Given the description of an element on the screen output the (x, y) to click on. 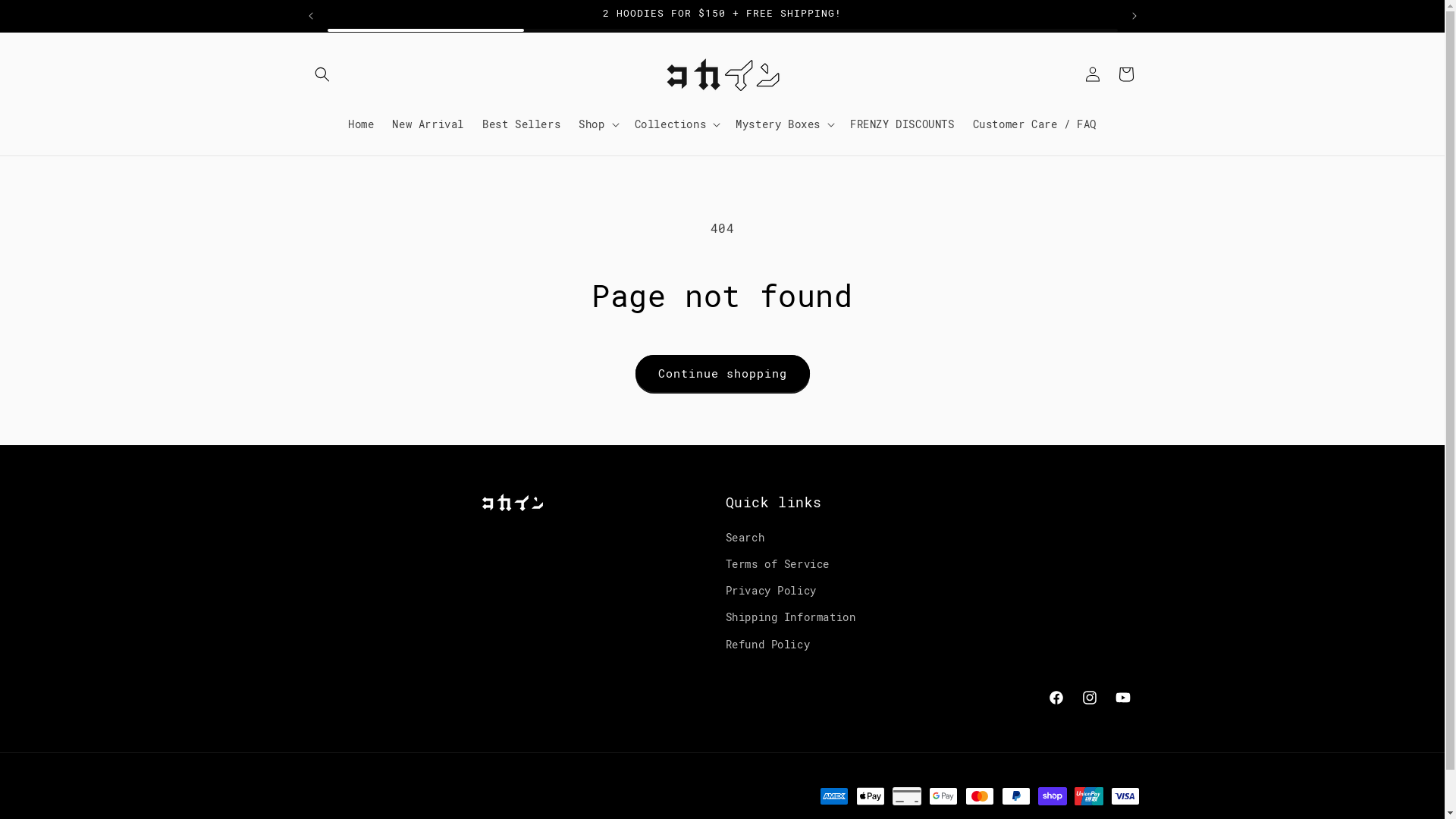
Facebook Element type: text (1055, 697)
Instagram Element type: text (1088, 697)
Terms of Service Element type: text (776, 564)
Log in Element type: text (1091, 74)
Best Sellers Element type: text (521, 123)
Customer Care / FAQ Element type: text (1034, 123)
Cart Element type: text (1125, 74)
Search Element type: text (744, 539)
Continue shopping Element type: text (722, 373)
FRENZY DISCOUNTS Element type: text (901, 123)
New Arrival Element type: text (427, 123)
Refund Policy Element type: text (766, 644)
Shipping Information Element type: text (789, 617)
Privacy Policy Element type: text (769, 590)
YouTube Element type: text (1122, 697)
Home Element type: text (360, 123)
